Given the description of an element on the screen output the (x, y) to click on. 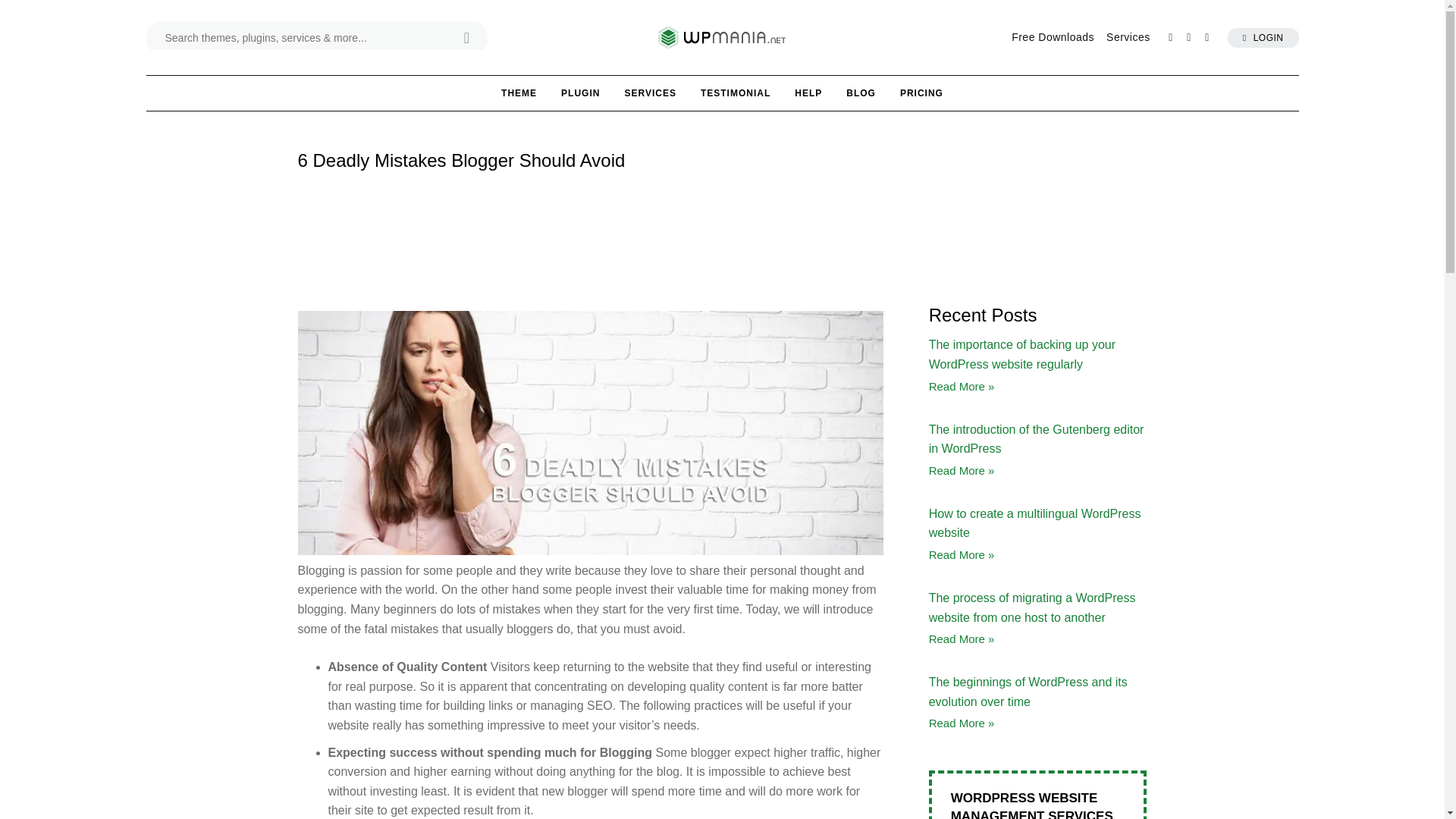
THEME (518, 93)
PRICING (921, 93)
PLUGIN (579, 93)
BLOG (860, 93)
LOGIN (1262, 36)
SERVICES (650, 93)
TESTIMONIAL (735, 93)
